Given the description of an element on the screen output the (x, y) to click on. 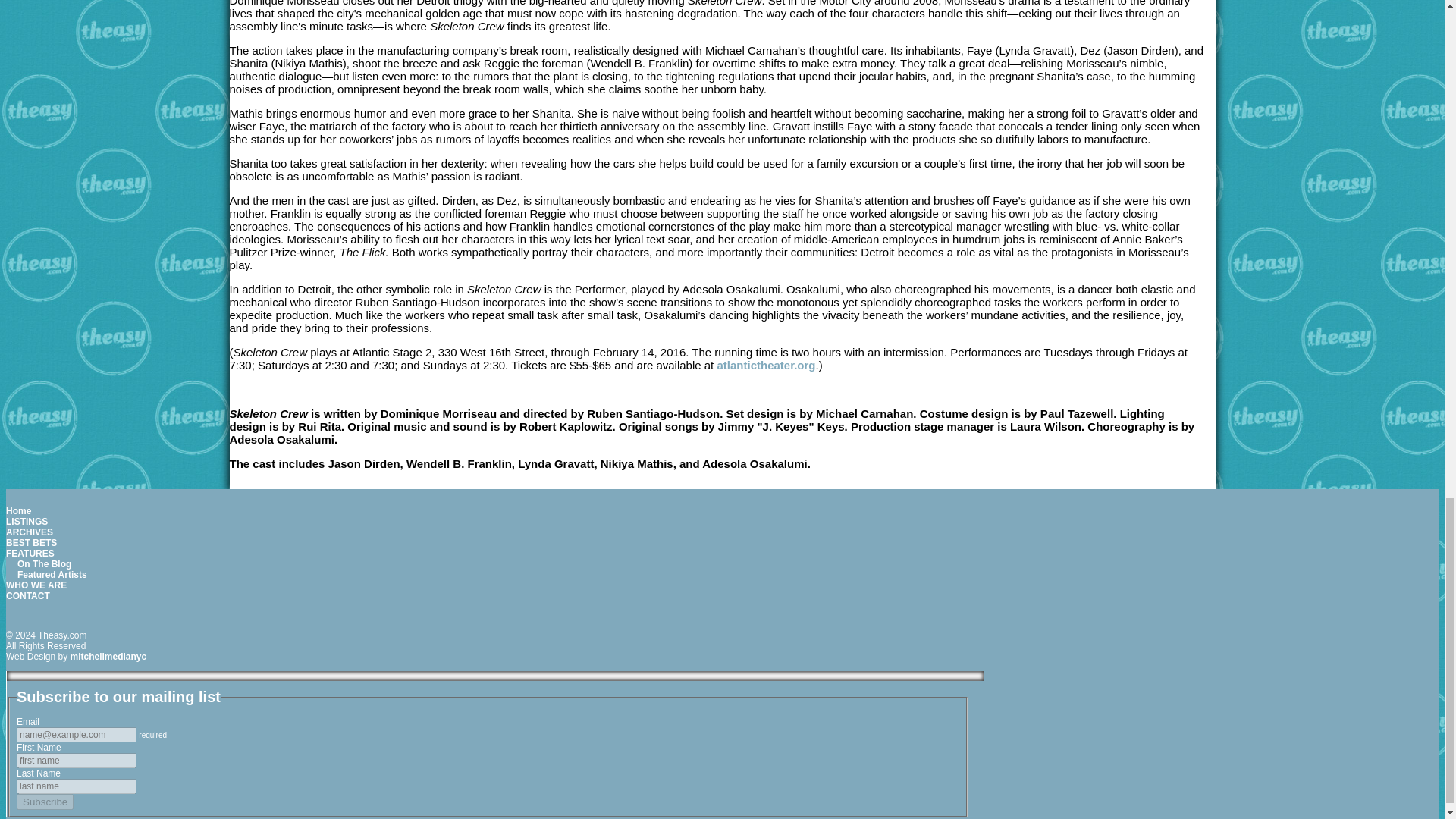
WHO WE ARE (35, 584)
On The Blog (44, 563)
CONTACT (27, 595)
Subscribe (45, 801)
atlantictheater.org (765, 364)
BEST BETS (30, 542)
Featured Artists (52, 574)
Home (17, 511)
FEATURES (30, 552)
ARCHIVES (28, 532)
mitchellmedianyc (108, 656)
LISTINGS (26, 521)
